Given the description of an element on the screen output the (x, y) to click on. 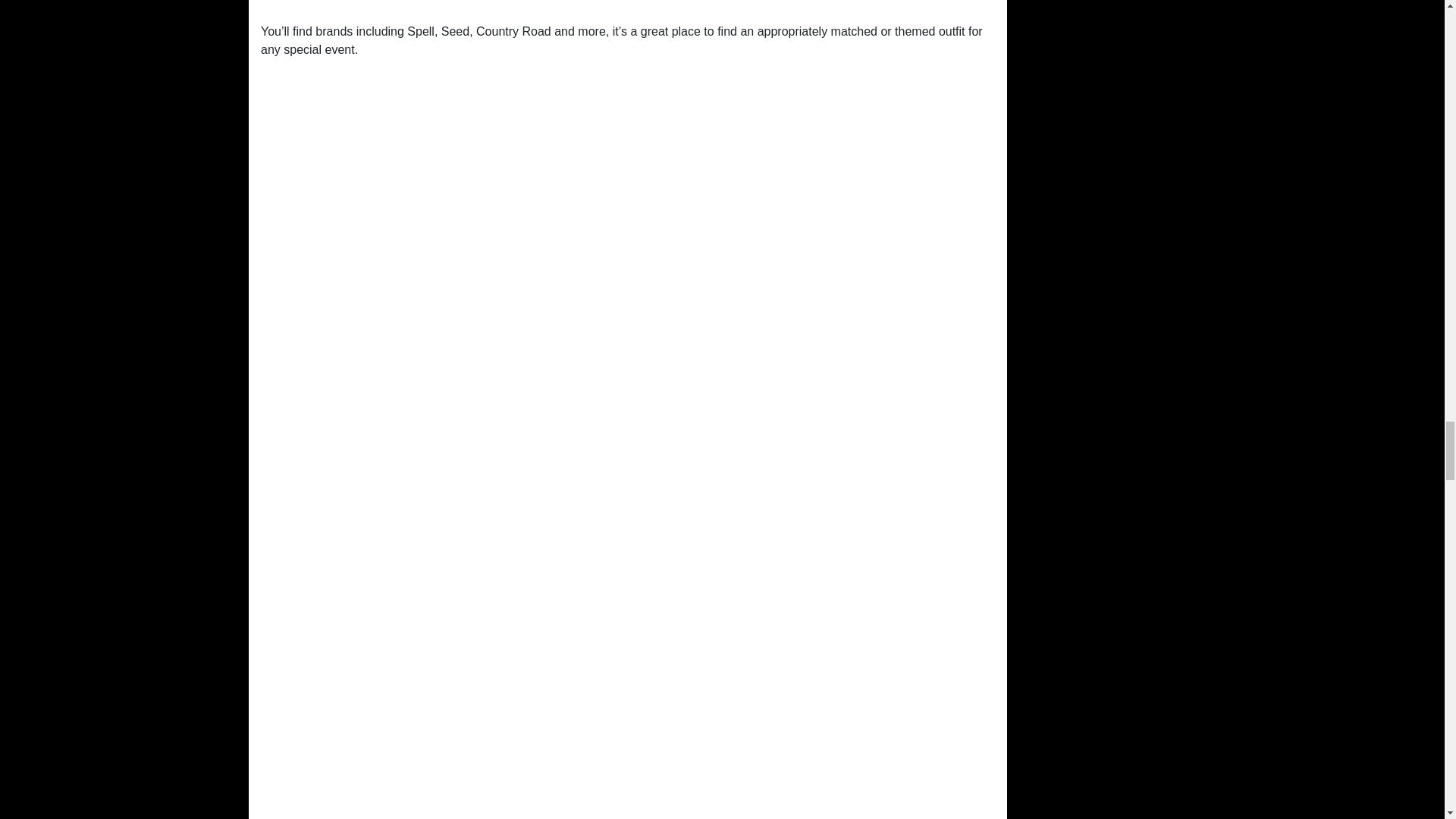
Vinnies Op Shop, Tugun (627, 5)
